Given the description of an element on the screen output the (x, y) to click on. 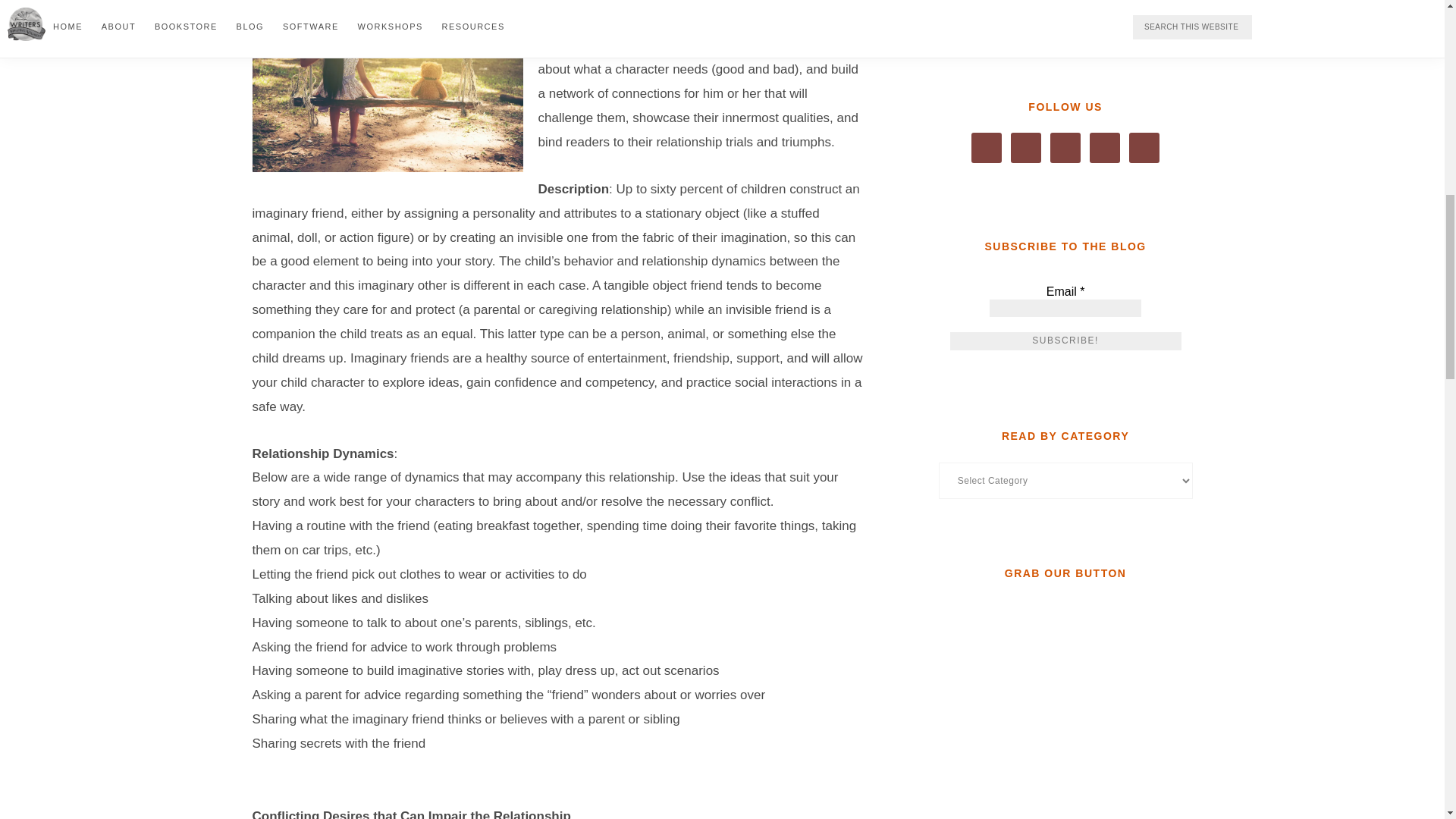
Subscribe! (1065, 341)
